Given the description of an element on the screen output the (x, y) to click on. 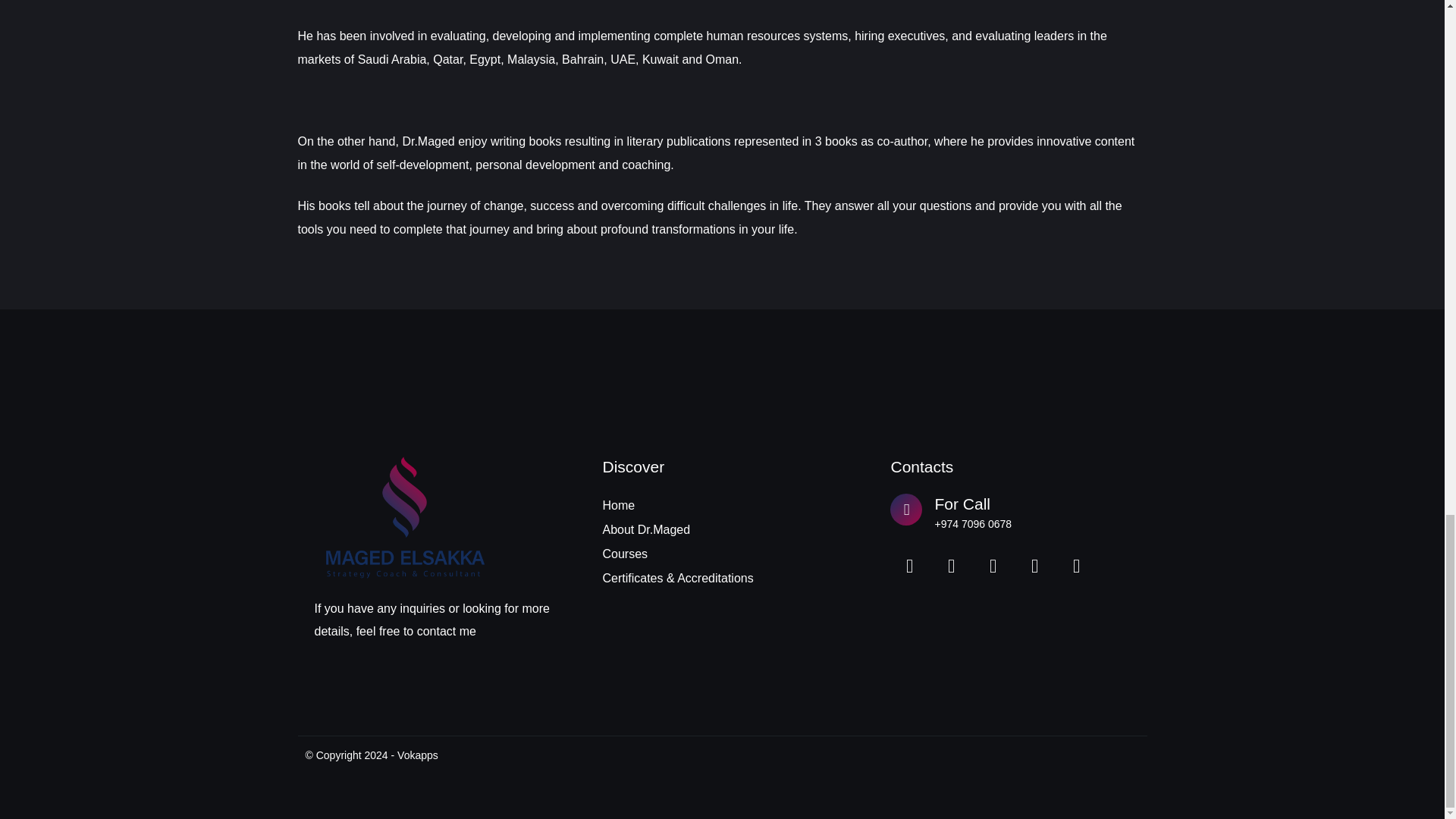
Courses (721, 554)
Home (721, 505)
About Dr.Maged (721, 529)
Vokapps (417, 755)
For Call (962, 503)
